Given the description of an element on the screen output the (x, y) to click on. 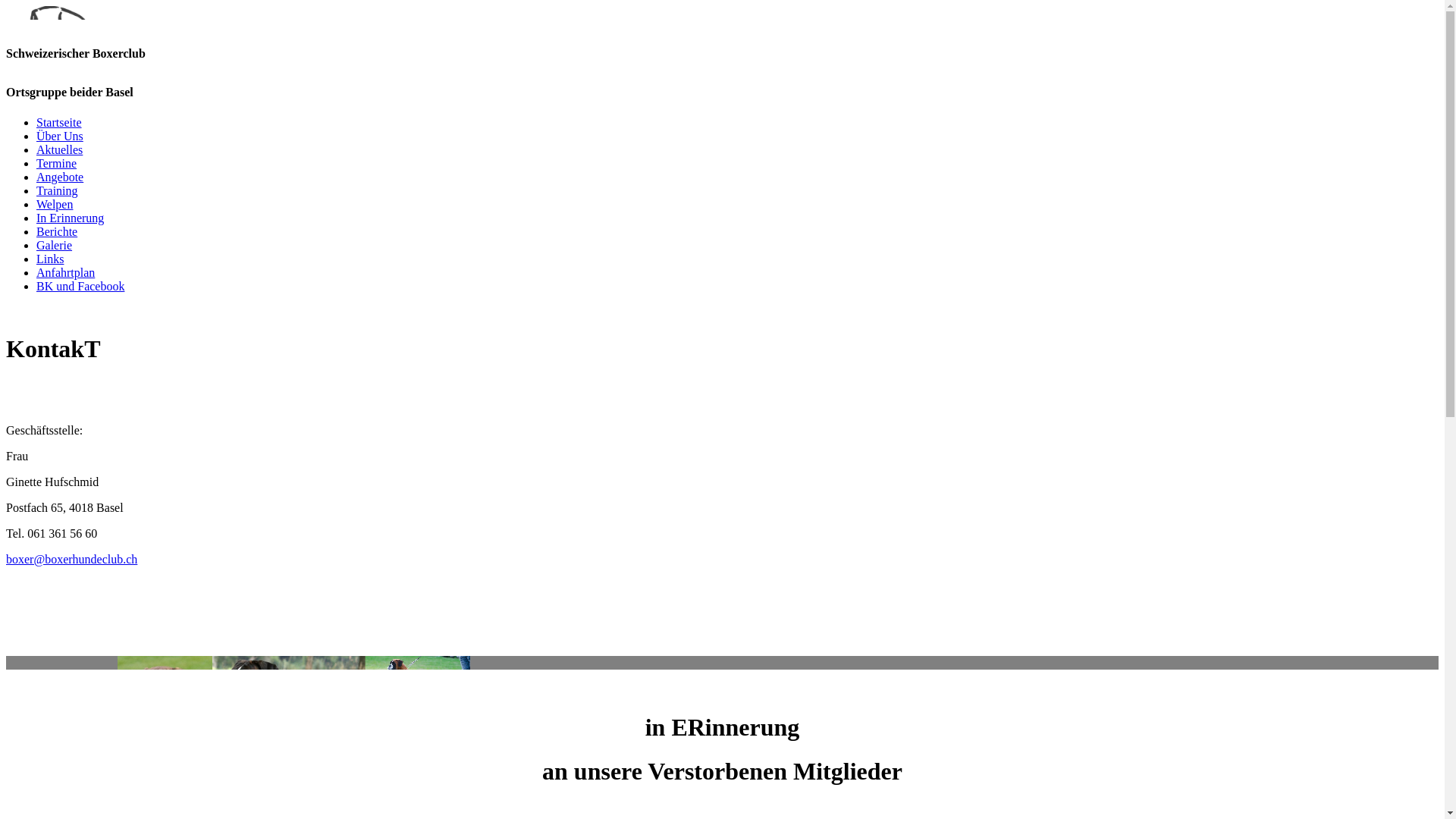
In Erinnerung Element type: text (69, 217)
Links Element type: text (49, 258)
Welpen Element type: text (54, 203)
Angebote Element type: text (59, 176)
Galerie Element type: text (54, 244)
Anfahrtplan Element type: text (65, 272)
Termine Element type: text (56, 162)
Aktuelles Element type: text (59, 149)
Berichte Element type: text (56, 231)
Training Element type: text (57, 190)
BK und Facebook Element type: text (80, 285)
boxer@boxerhundeclub.ch Element type: text (71, 558)
Startseite Element type: text (58, 122)
